Given the description of an element on the screen output the (x, y) to click on. 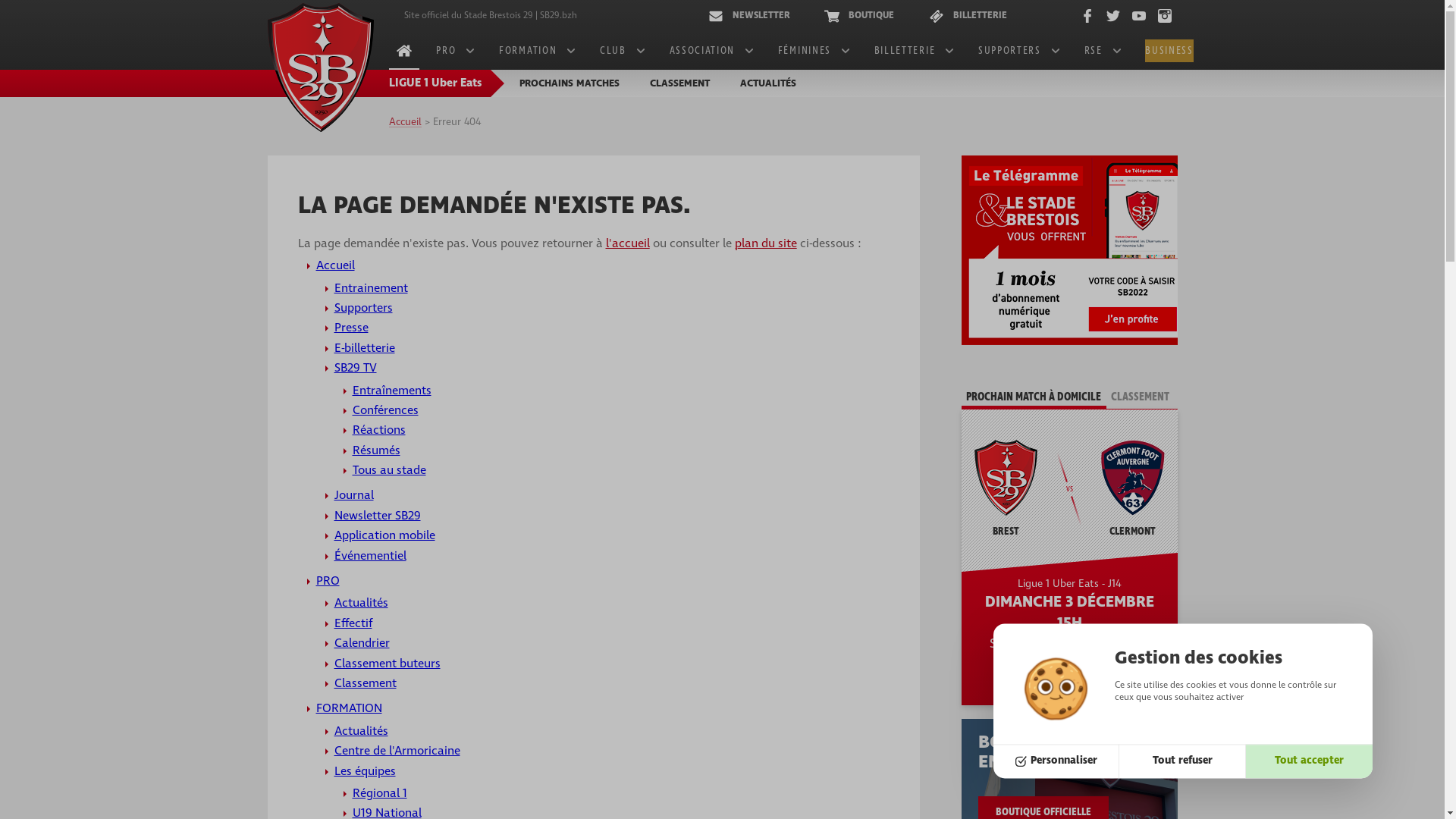
PROCHAINS MATCHES Element type: text (568, 83)
Presse Element type: text (350, 327)
Classement buteurs Element type: text (386, 663)
Application mobile Element type: text (383, 535)
Effectif Element type: text (352, 623)
Classement Element type: text (364, 682)
Tous au stade Element type: text (388, 469)
FORMATION Element type: text (536, 50)
PRO Element type: text (454, 50)
CLASSEMENT Element type: text (678, 83)
l'accueil Element type: text (627, 243)
Personnaliser Element type: text (1056, 760)
plan du site Element type: text (765, 243)
BILLETTERIE Element type: text (972, 15)
NEWSLETTER Element type: text (753, 15)
Journal Element type: text (353, 494)
RSE Element type: text (1102, 50)
Newsletter SB29 Element type: text (376, 515)
Suivez-nous sur Twitter ! Element type: text (1112, 15)
BILLETTERIE Element type: text (913, 50)
Calendrier Element type: text (361, 642)
CLUB Element type: text (622, 50)
FORMATION Element type: text (348, 707)
SUPPORTERS Element type: text (1018, 50)
ACCUEIL Element type: text (403, 50)
E-billetterie Element type: text (363, 347)
ACHETER UN BILLET Element type: text (1068, 674)
Erreur 404 Element type: text (456, 122)
Supporters Element type: text (362, 307)
Entrainement Element type: text (370, 287)
Suivez-nous sur Pinterest ! Element type: text (1163, 15)
Centre de l'Armoricaine Element type: text (396, 750)
SB29 TV Element type: text (354, 367)
CLASSEMENT Element type: text (1140, 396)
Accueil Element type: text (334, 265)
BOUTIQUE Element type: text (863, 15)
PRO Element type: text (326, 580)
Tout refuser Element type: text (1182, 760)
Accueil Element type: text (404, 122)
BUSINESS Element type: text (1168, 50)
Rejoignez-nous sur Facebook ! Element type: text (1086, 15)
ASSOCIATION Element type: text (711, 50)
Tout accepter Element type: text (1308, 760)
